Given the description of an element on the screen output the (x, y) to click on. 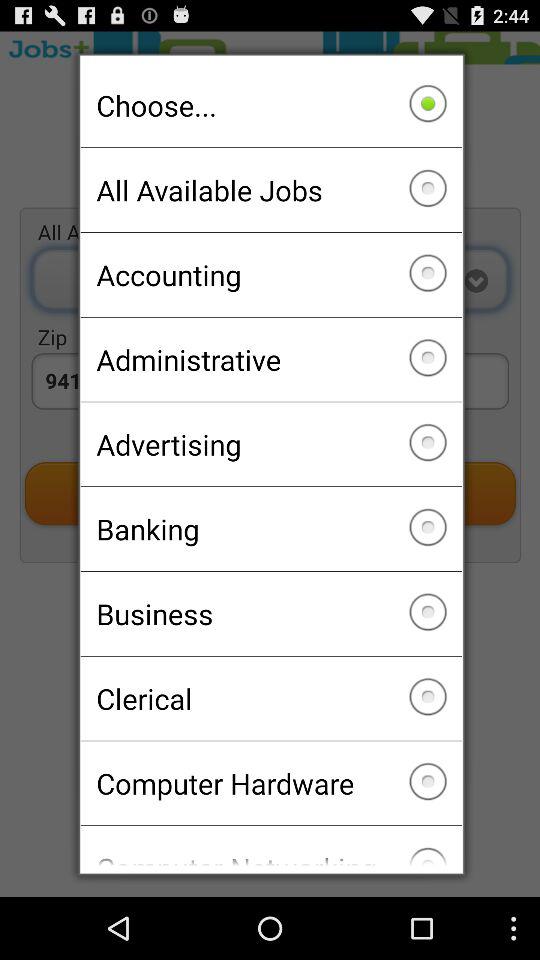
choose the banking (270, 529)
